Given the description of an element on the screen output the (x, y) to click on. 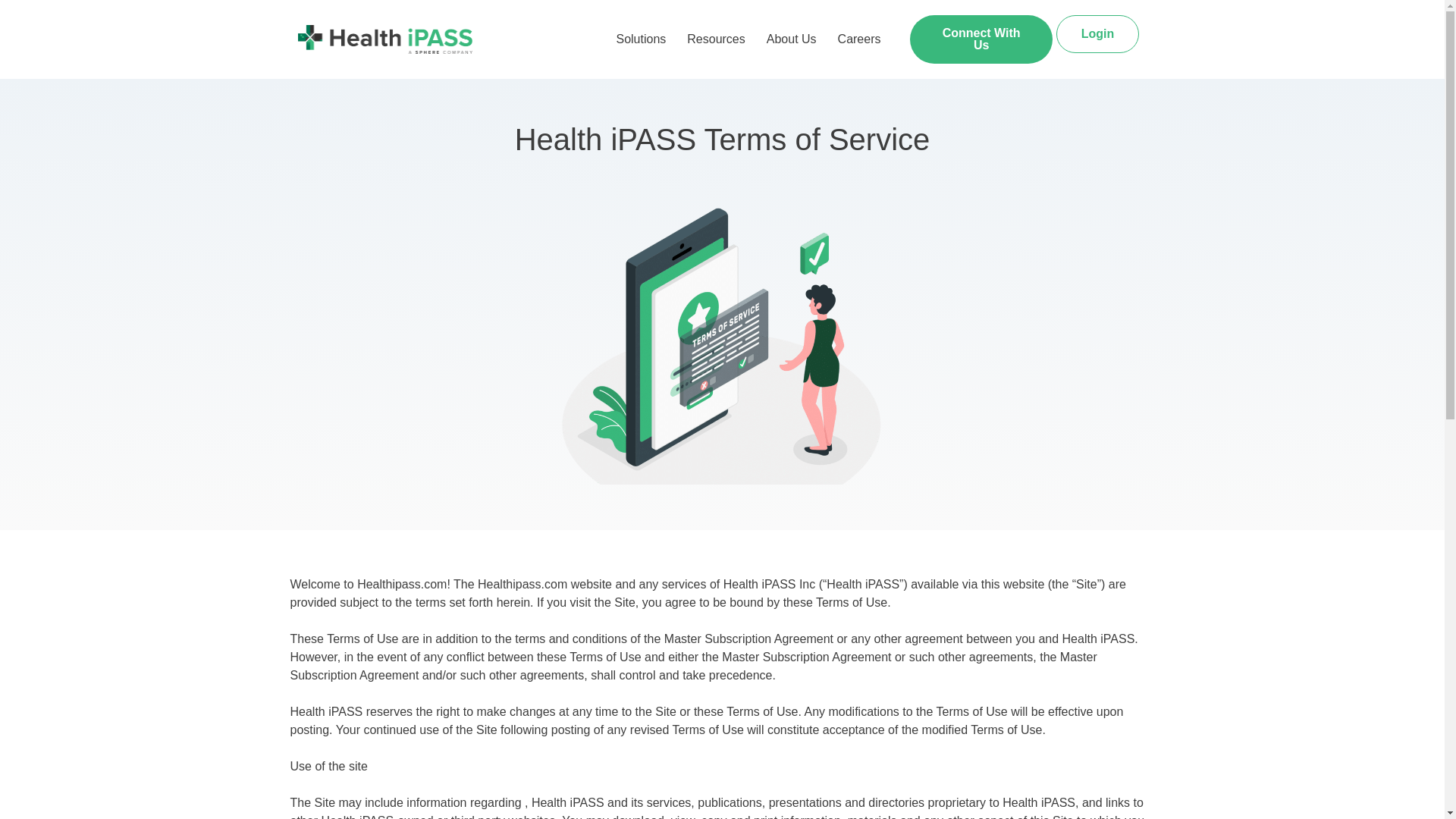
Resources (716, 39)
Connect With Us (980, 39)
Login (1098, 34)
Careers (859, 39)
About Us (791, 39)
Solutions (641, 39)
